Given the description of an element on the screen output the (x, y) to click on. 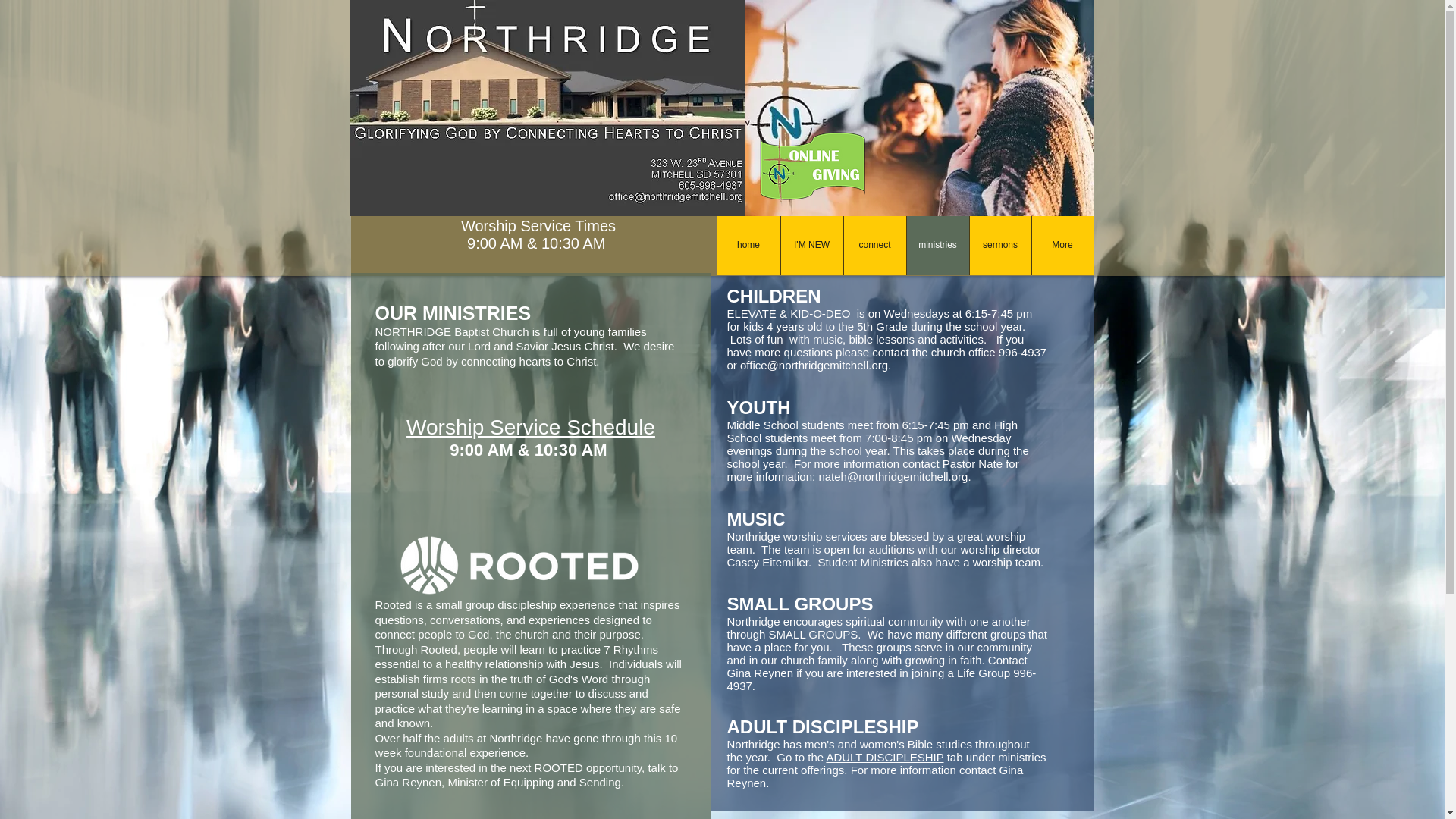
ADULT DISCIPLESHIP (884, 757)
ministries (936, 245)
I'M NEW (810, 245)
home (748, 245)
sermons (999, 245)
connect (874, 245)
